Given the description of an element on the screen output the (x, y) to click on. 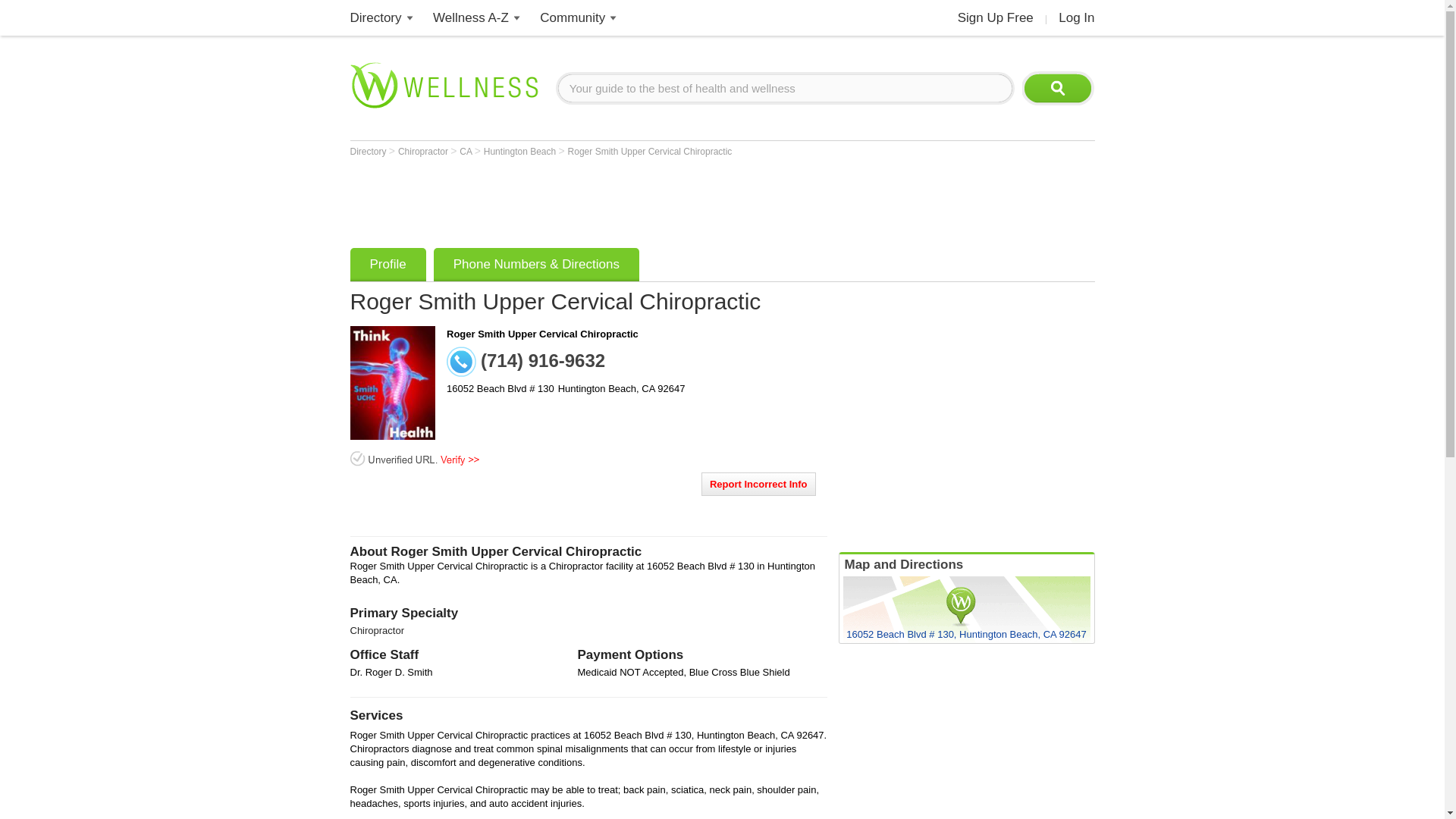
Directory (375, 17)
Wellness Directory (375, 17)
Your guide to the best of health and wellness (785, 88)
Your guide to the best of health and wellness (785, 88)
